Given the description of an element on the screen output the (x, y) to click on. 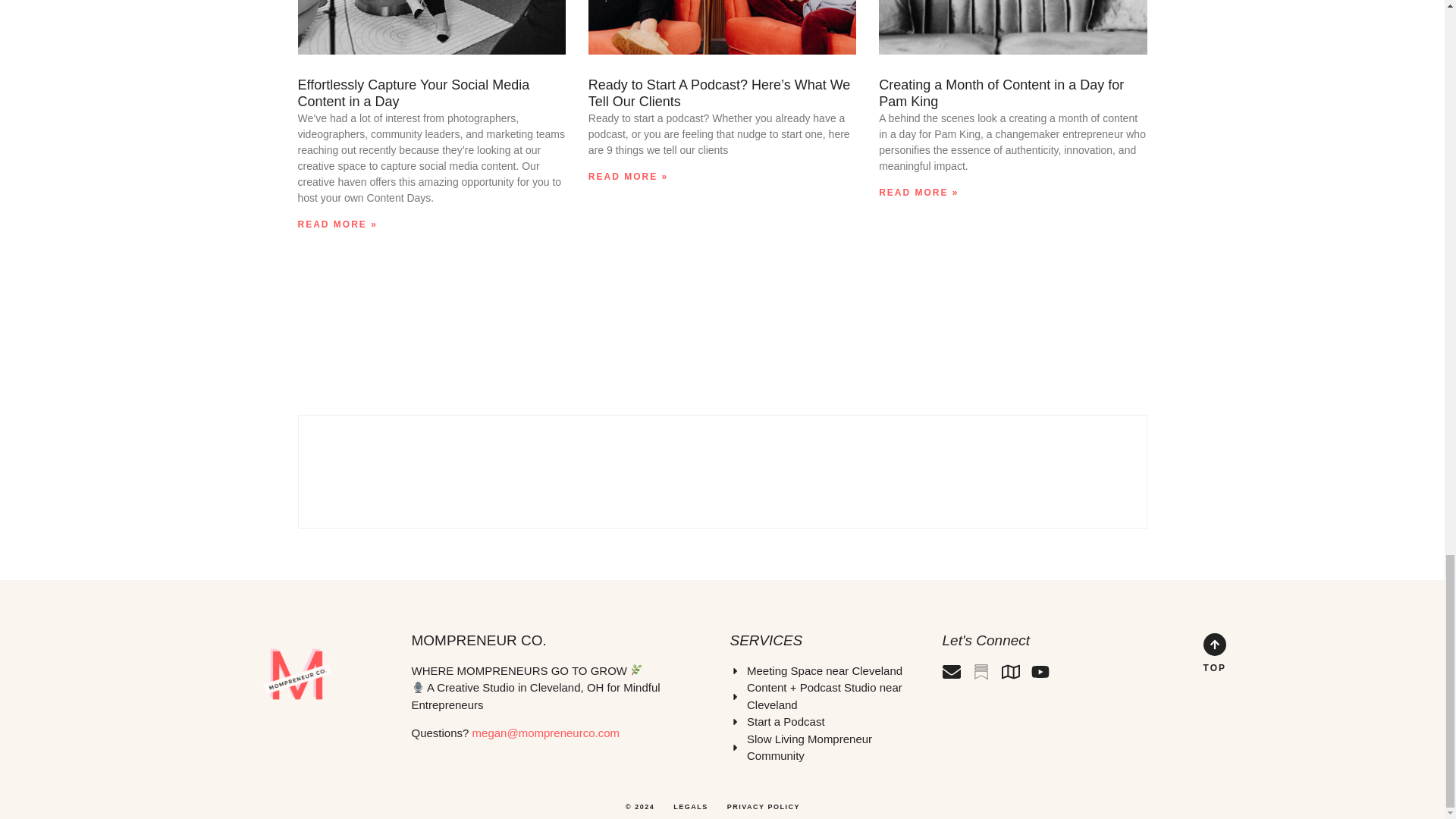
Effortlessly Capture Your Social Media Content in a Day (413, 92)
Meeting Space near Cleveland (827, 671)
Creating a Month of Content in a Day for Pam King (1001, 92)
